Given the description of an element on the screen output the (x, y) to click on. 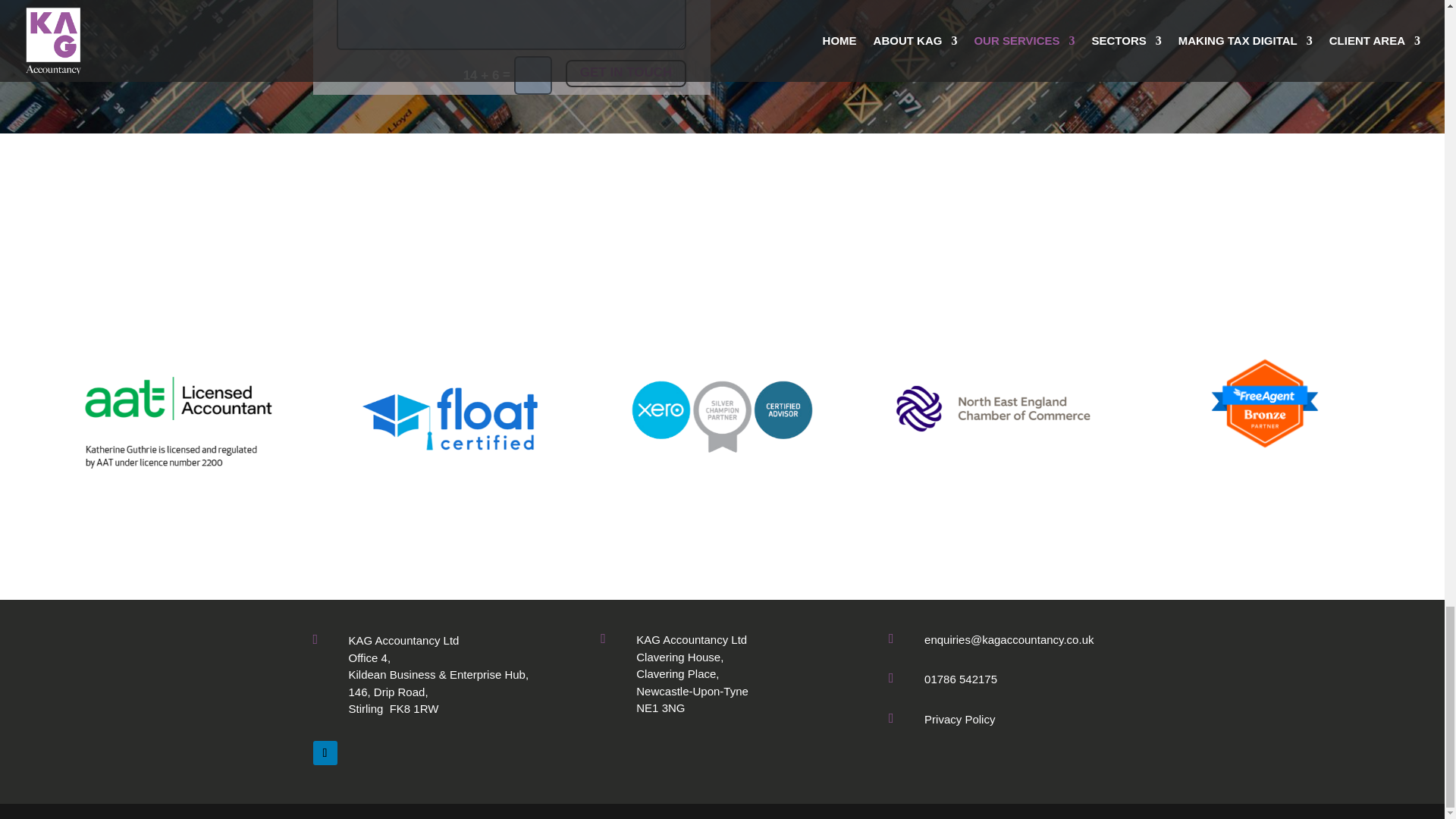
Revised AAT footer rt work 2023 (179, 420)
Follow on LinkedIn (324, 752)
freeagent-bronze-partner-badge-2023-medium (1264, 403)
